Given the description of an element on the screen output the (x, y) to click on. 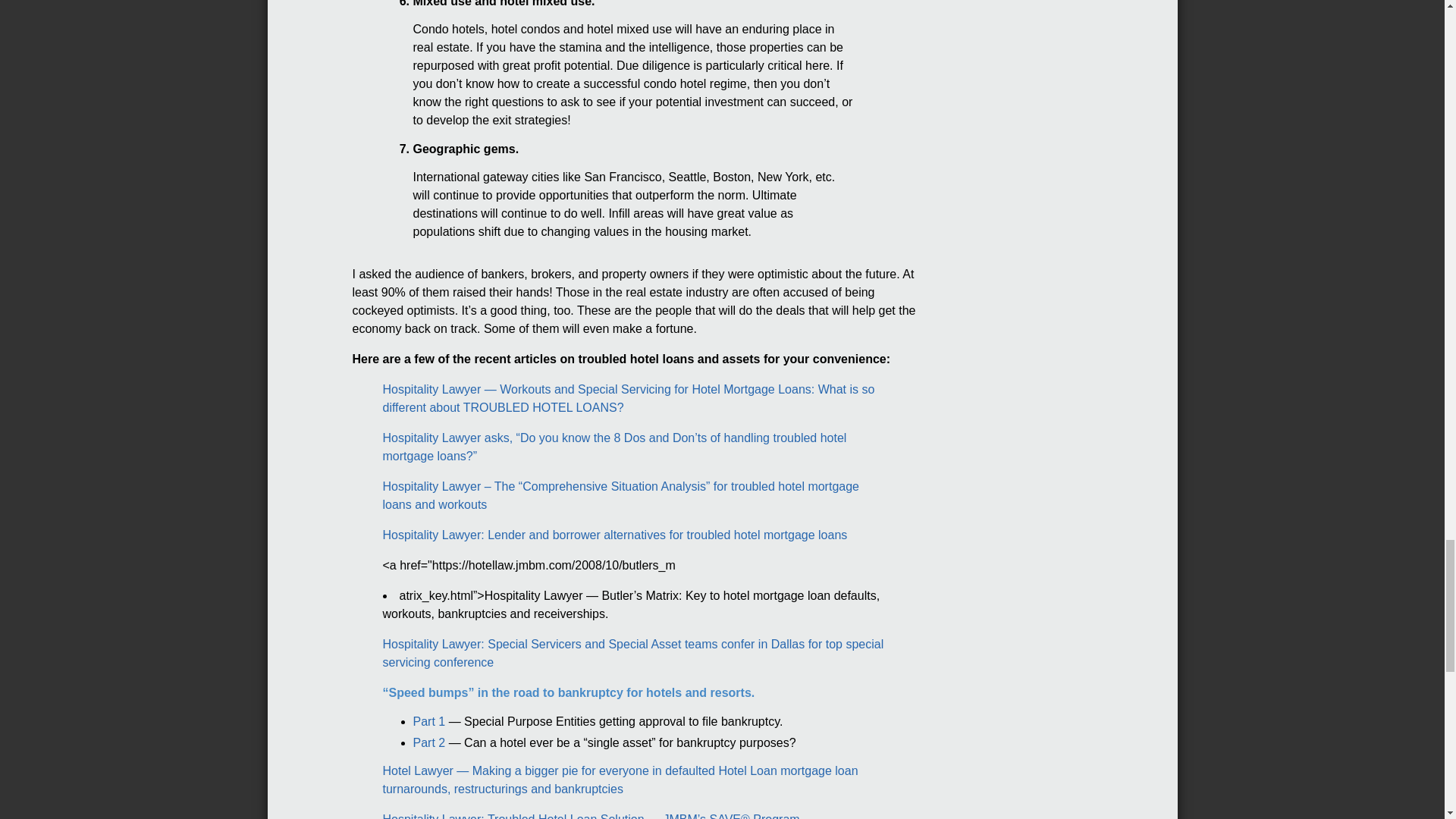
Part 1 (428, 721)
Part 2 (428, 741)
